Given the description of an element on the screen output the (x, y) to click on. 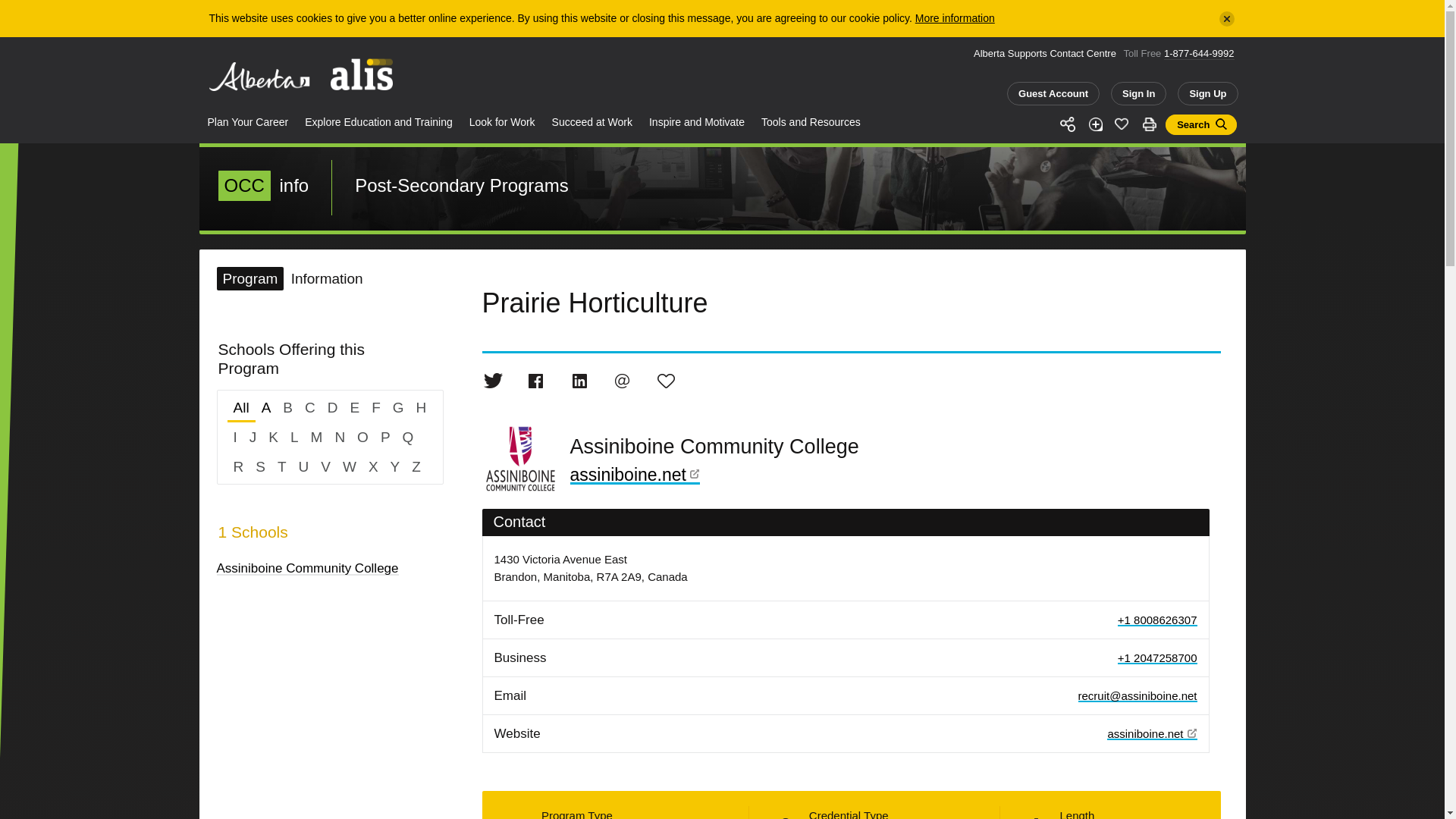
Share on Linked In (579, 380)
ALIS (365, 76)
Skip to the main content (65, 6)
Guest Account (1053, 93)
Share via Email (622, 380)
Sign Up (1207, 93)
Search (1201, 124)
Share on Twitter (492, 380)
Share (1069, 125)
More information (954, 18)
